Given the description of an element on the screen output the (x, y) to click on. 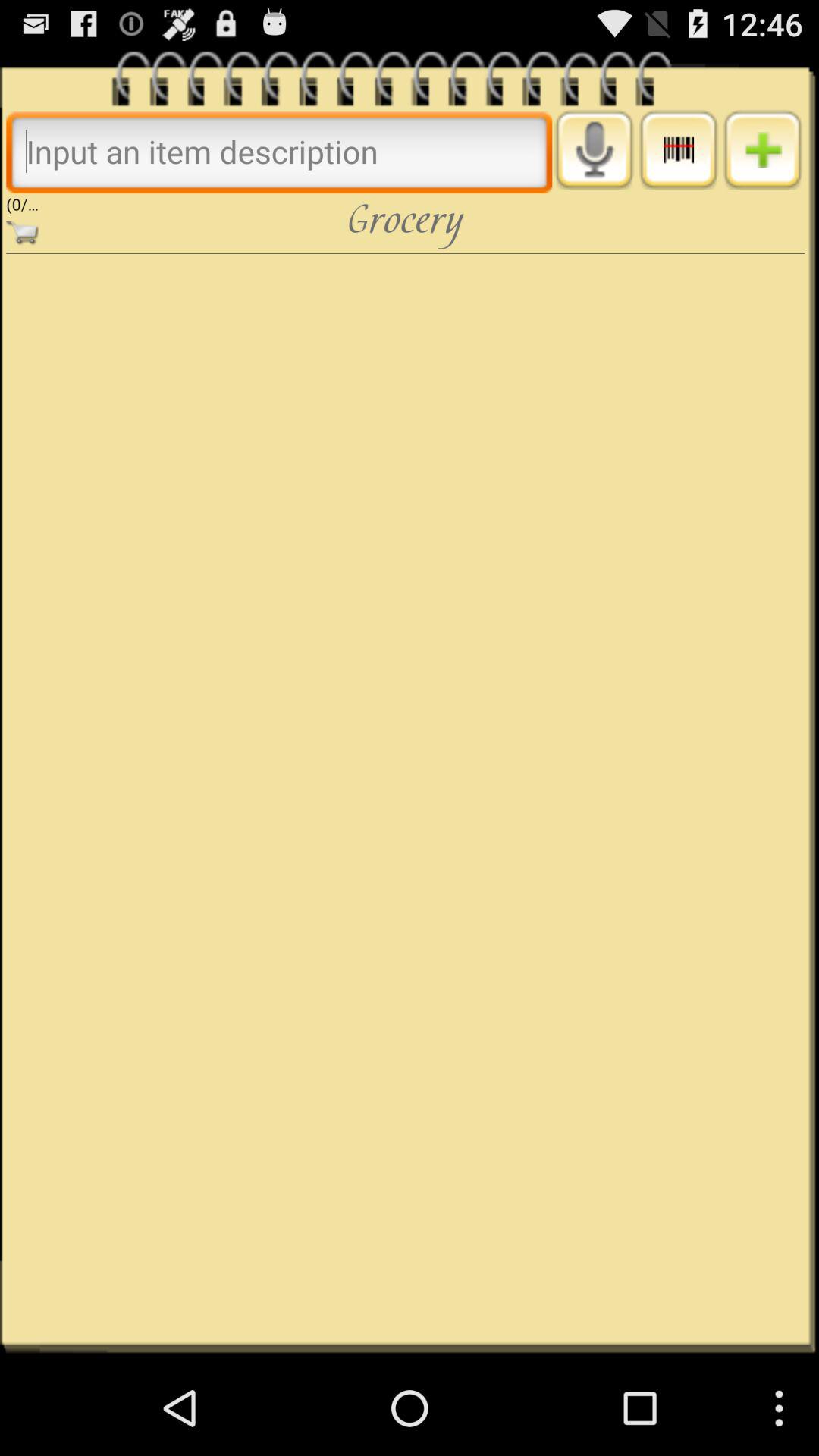
add new contacnt (762, 149)
